Given the description of an element on the screen output the (x, y) to click on. 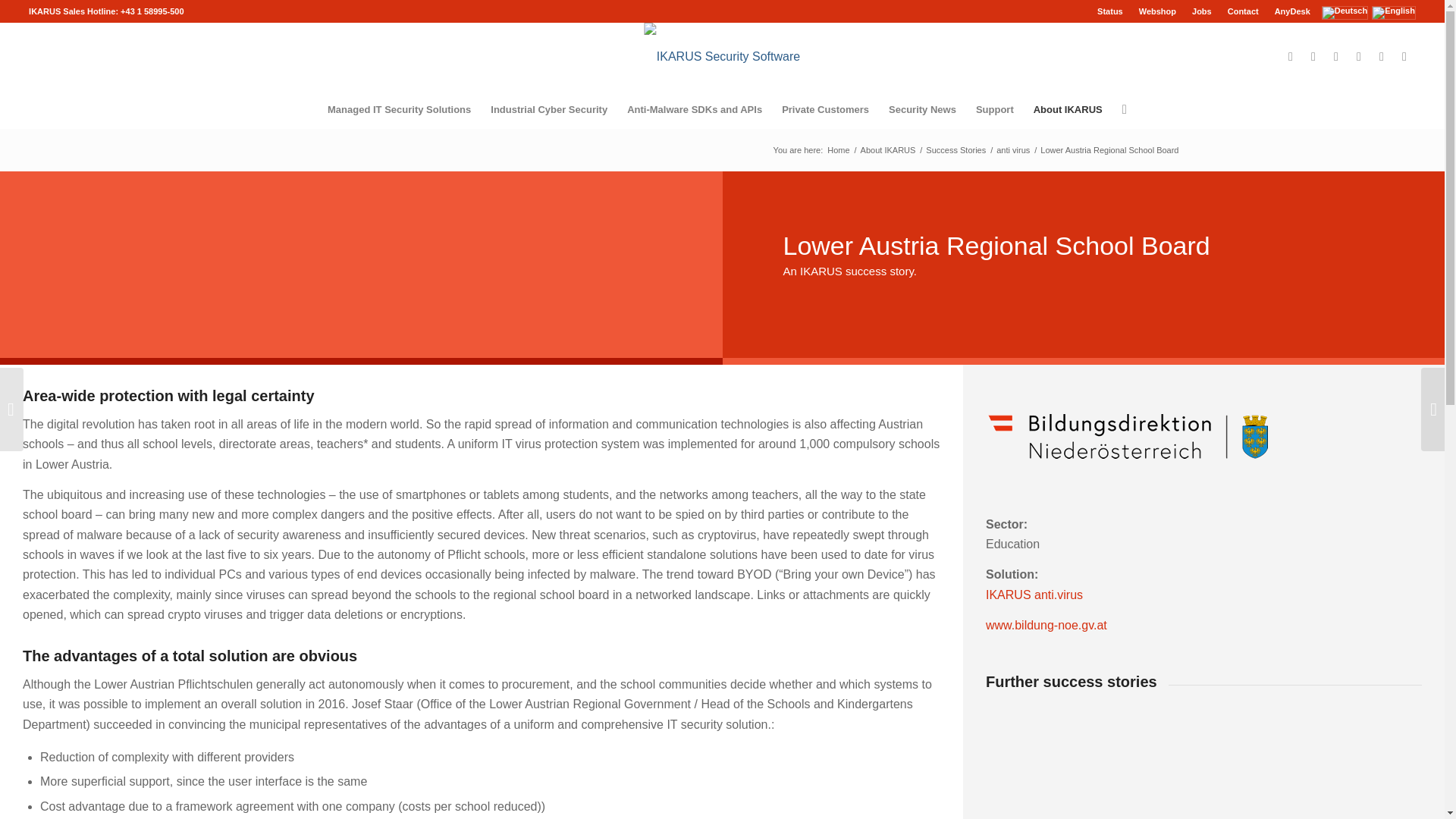
Managed IT Security Solutions (398, 109)
Youtube (1381, 56)
Jobs (1201, 11)
IKARUS-Security-Software (722, 56)
Webshop (1157, 11)
X (1336, 56)
English (1393, 12)
Facebook (1312, 56)
LinkedIn (1290, 56)
IKARUS-Security-Software (722, 48)
